Given the description of an element on the screen output the (x, y) to click on. 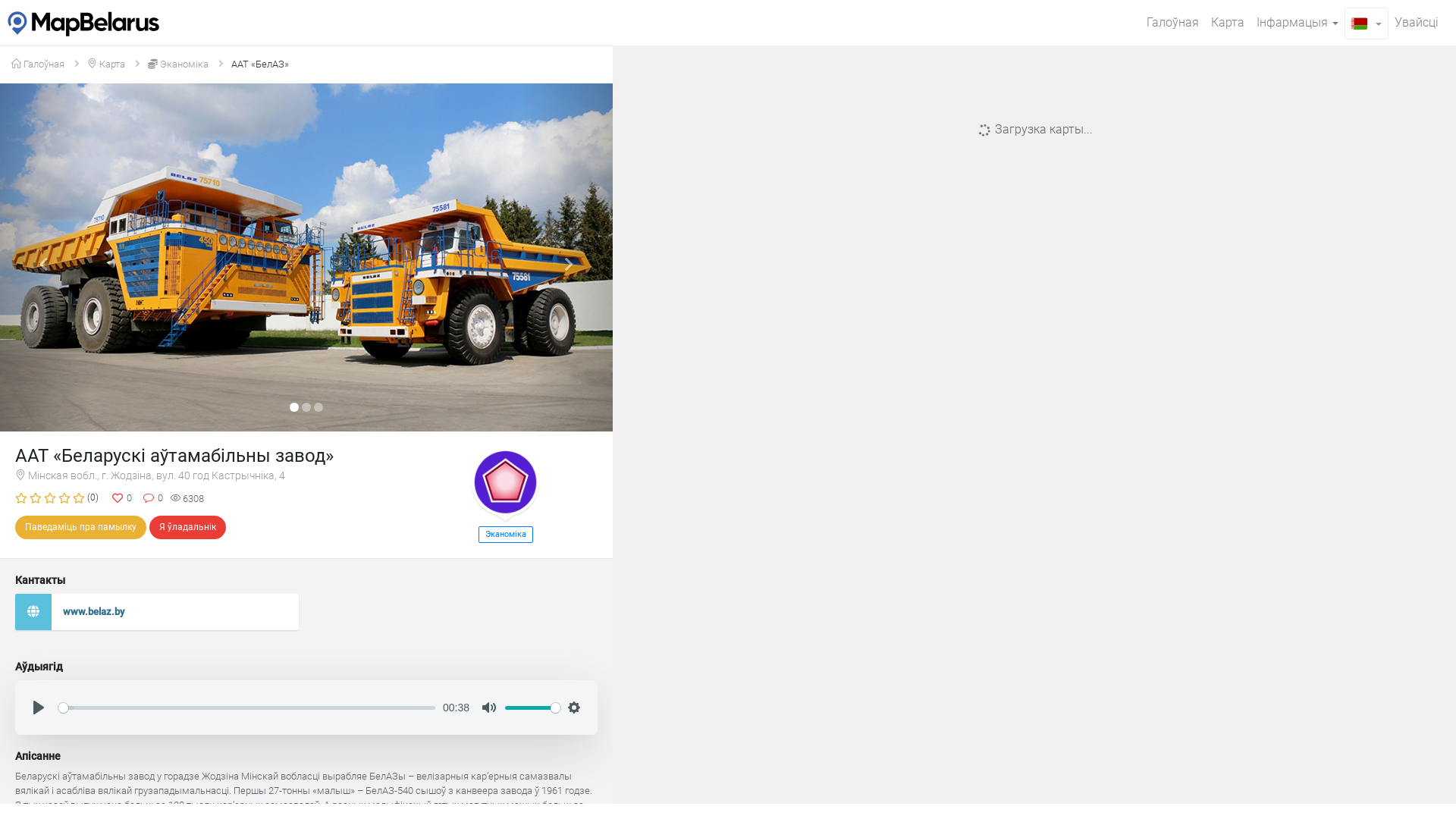
www.belaz.by Element type: text (156, 611)
